Given the description of an element on the screen output the (x, y) to click on. 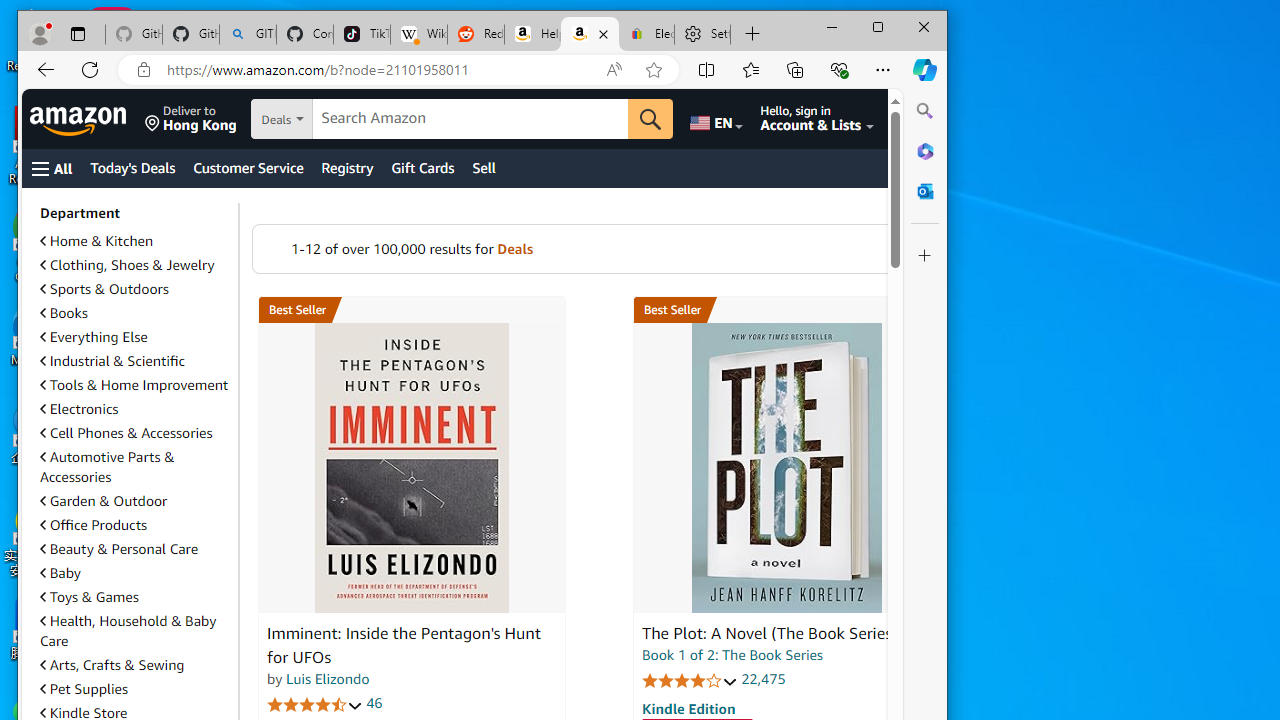
Industrial & Scientific (112, 361)
Hello, sign in Account & Lists (817, 119)
Baby (59, 572)
Luis Elizondo (327, 679)
Books (63, 312)
Book 1 of 2: The Book Series (732, 654)
Tools & Home Improvement (135, 385)
Toys & Games (135, 596)
Close Outlook pane (925, 190)
Sell (484, 168)
Garden & Outdoor (135, 501)
Go (651, 118)
